Given the description of an element on the screen output the (x, y) to click on. 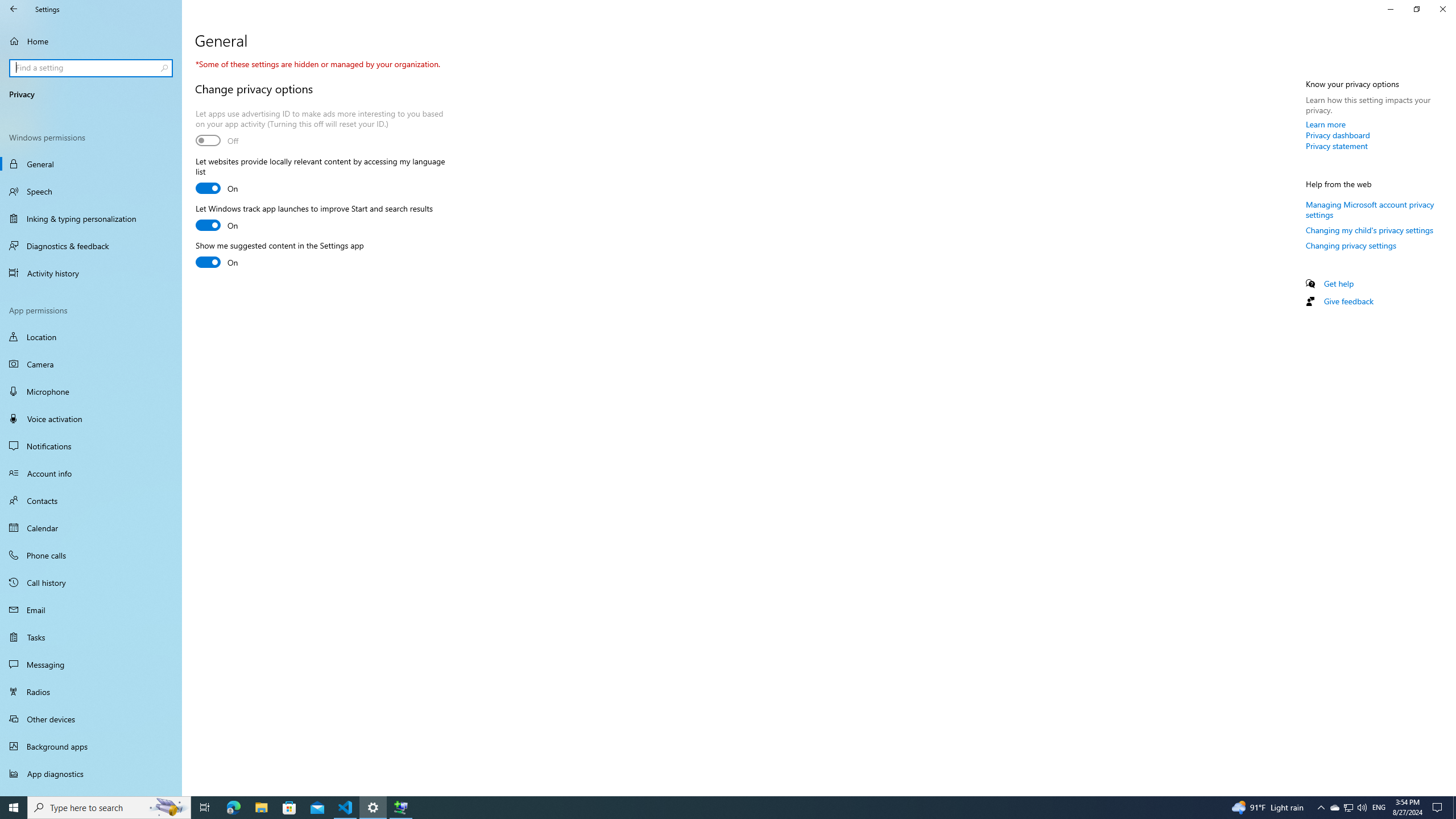
Inking & typing personalization (91, 217)
Changing my child's privacy settings (1369, 229)
App diagnostics (91, 773)
Tasks (91, 636)
Automatic file downloads (91, 791)
Other devices (91, 718)
Phone calls (91, 554)
Privacy dashboard (1338, 134)
Extensible Wizards Host Process - 1 running window (400, 807)
Notifications (91, 445)
